Given the description of an element on the screen output the (x, y) to click on. 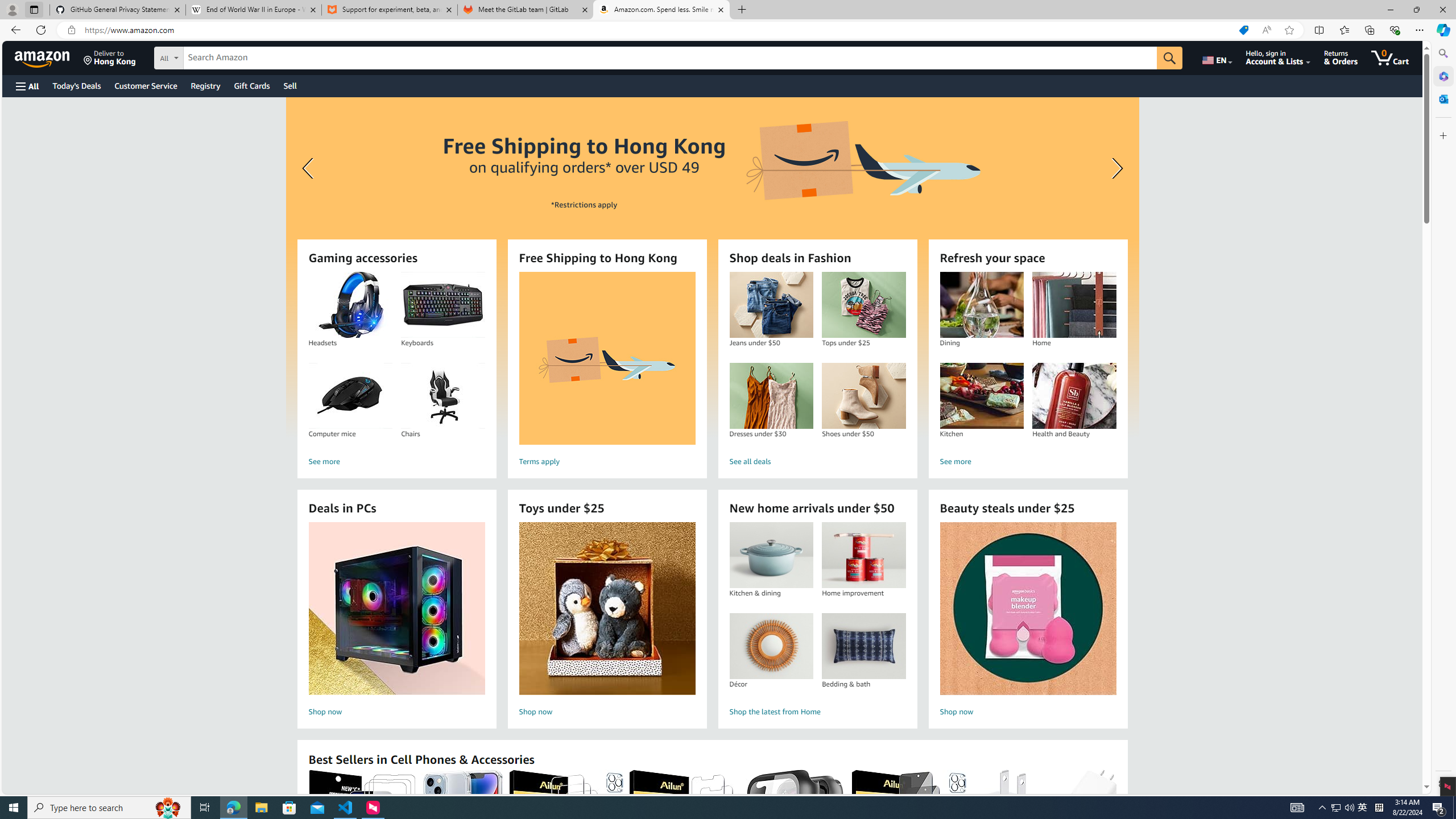
Hello, sign in Account & Lists (1278, 57)
End of World War II in Europe - Wikipedia (253, 9)
Toys under $25 Shop now (606, 620)
Dresses under $30 (770, 395)
Today's Deals (76, 85)
Free Shipping to Hong Kong (606, 357)
Computer mice (350, 395)
See all deals (817, 461)
